Given the description of an element on the screen output the (x, y) to click on. 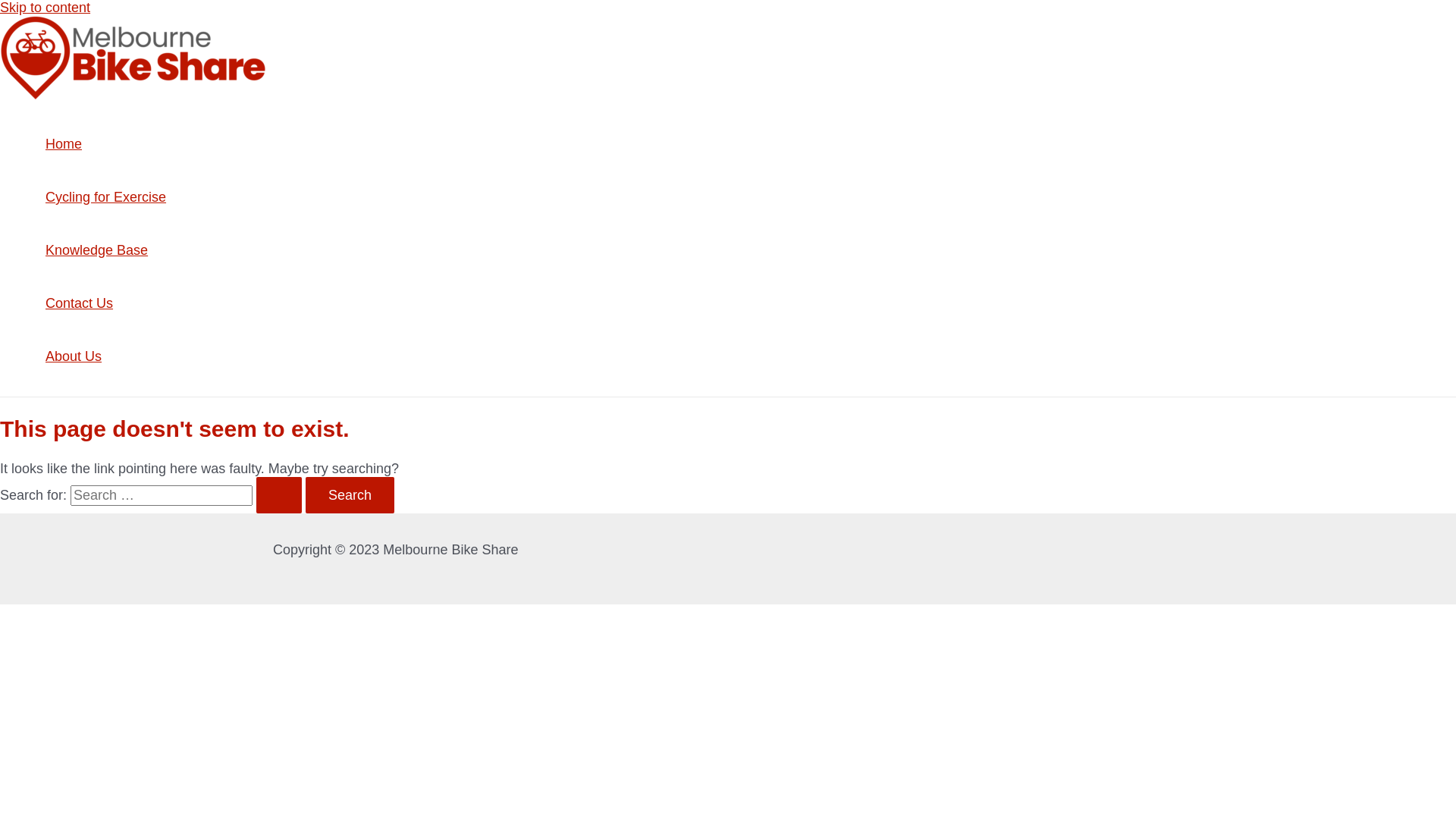
Cycling for Exercise Element type: text (105, 196)
Contact Us Element type: text (105, 302)
Skip to content Element type: text (45, 7)
Home Element type: text (105, 143)
Knowledge Base Element type: text (105, 249)
Search Element type: text (349, 494)
About Us Element type: text (105, 355)
